Given the description of an element on the screen output the (x, y) to click on. 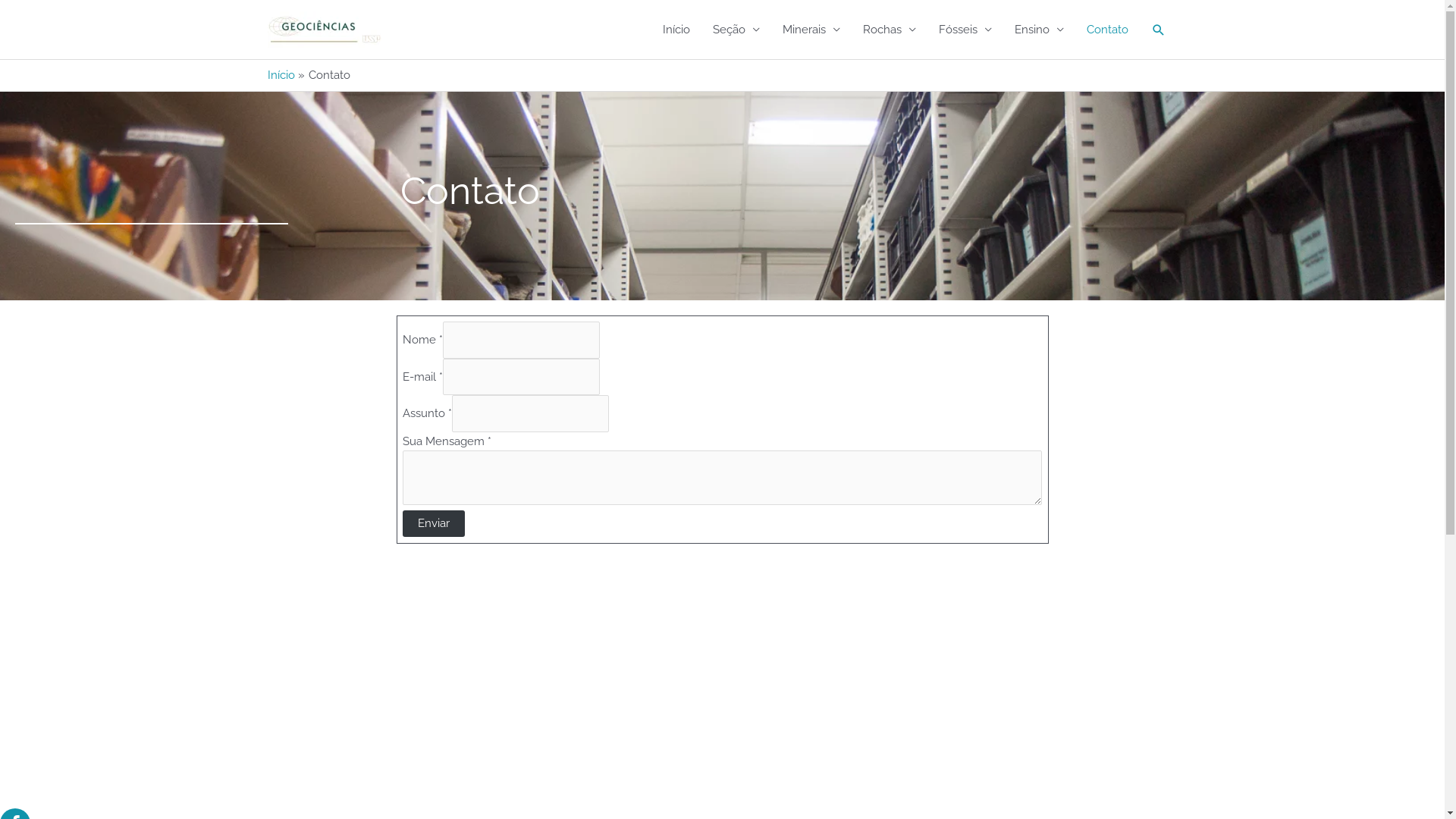
Contato Element type: text (1107, 29)
Google Map for  Element type: hover (242, 689)
Ensino Element type: text (1038, 29)
Pesquisar Element type: text (1158, 29)
Rochas Element type: text (888, 29)
Enviar Element type: text (433, 523)
Minerais Element type: text (810, 29)
